Given the description of an element on the screen output the (x, y) to click on. 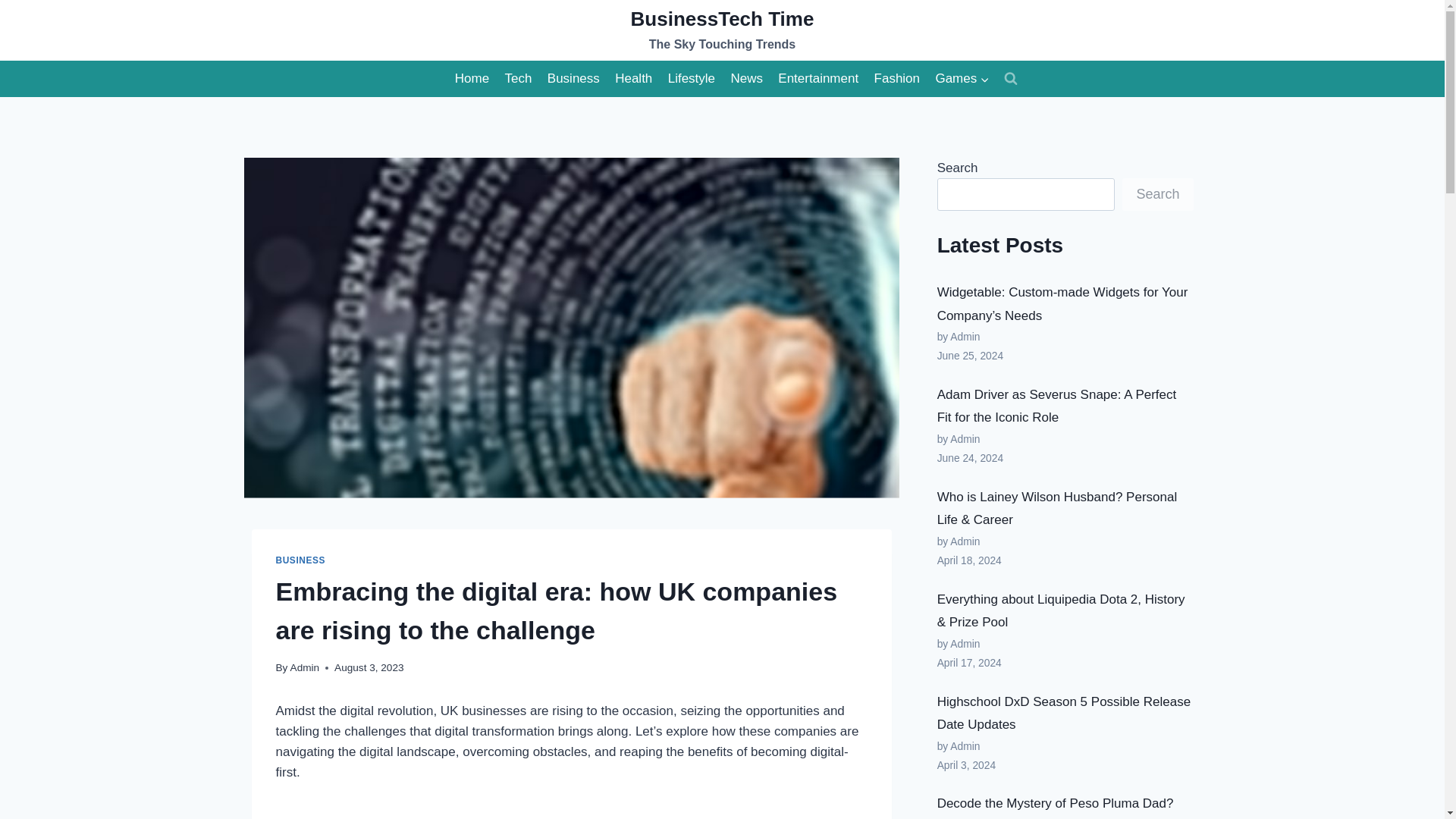
Business (573, 78)
Lifestyle (690, 78)
Fashion (896, 78)
BUSINESS (301, 560)
Admin (721, 30)
Entertainment (304, 667)
Games (818, 78)
Tech (962, 78)
Home (517, 78)
News (471, 78)
Health (746, 78)
